Given the description of an element on the screen output the (x, y) to click on. 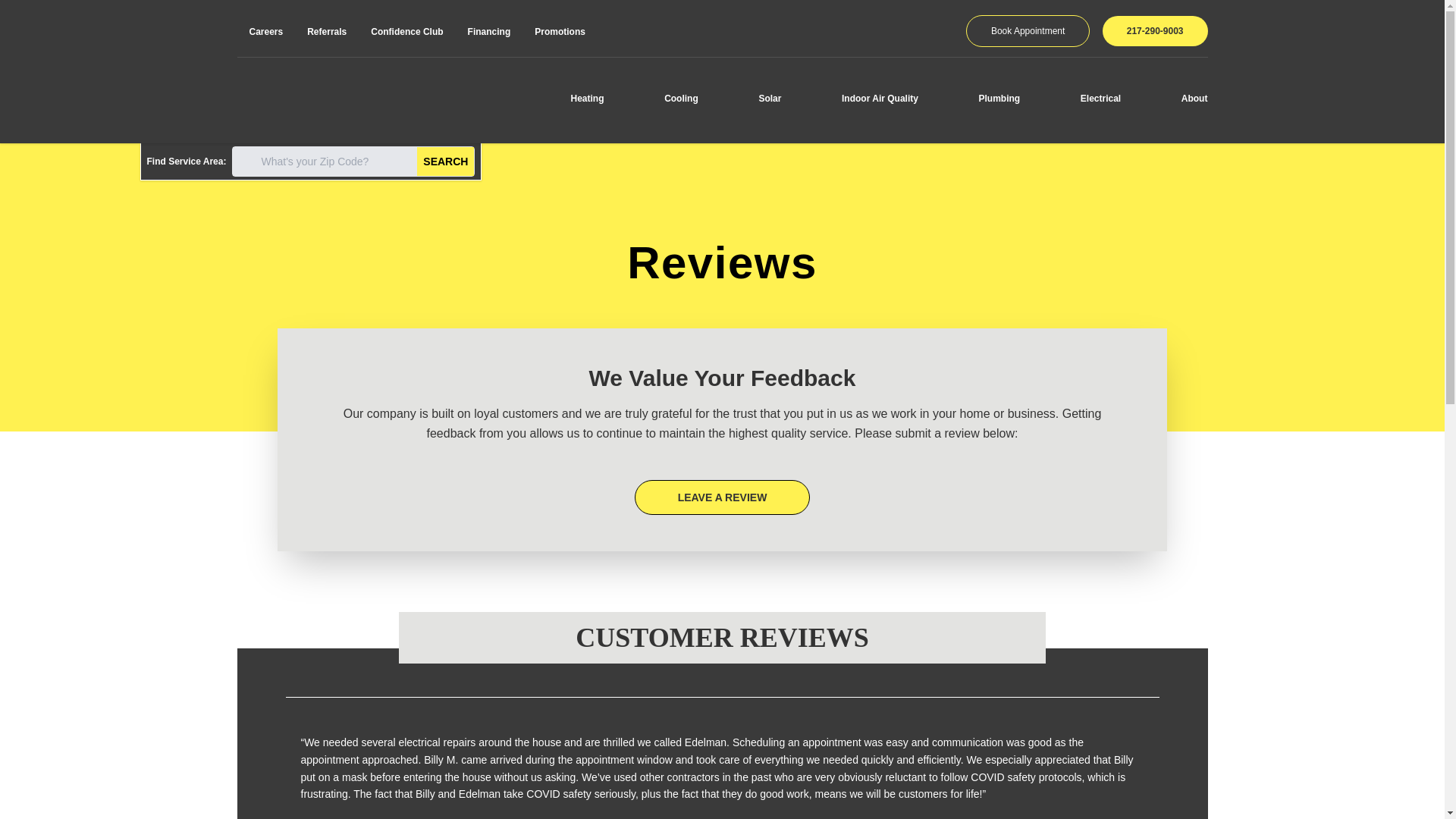
Solar (769, 97)
Promotions (559, 31)
Search (445, 161)
Book Appointment (1027, 30)
Referrals (326, 31)
Indoor Air Quality (879, 97)
217-290-9003 (1155, 30)
Heating (587, 97)
Careers (265, 31)
Financing (488, 31)
Cooling (680, 97)
Confidence Club (406, 31)
